Given the description of an element on the screen output the (x, y) to click on. 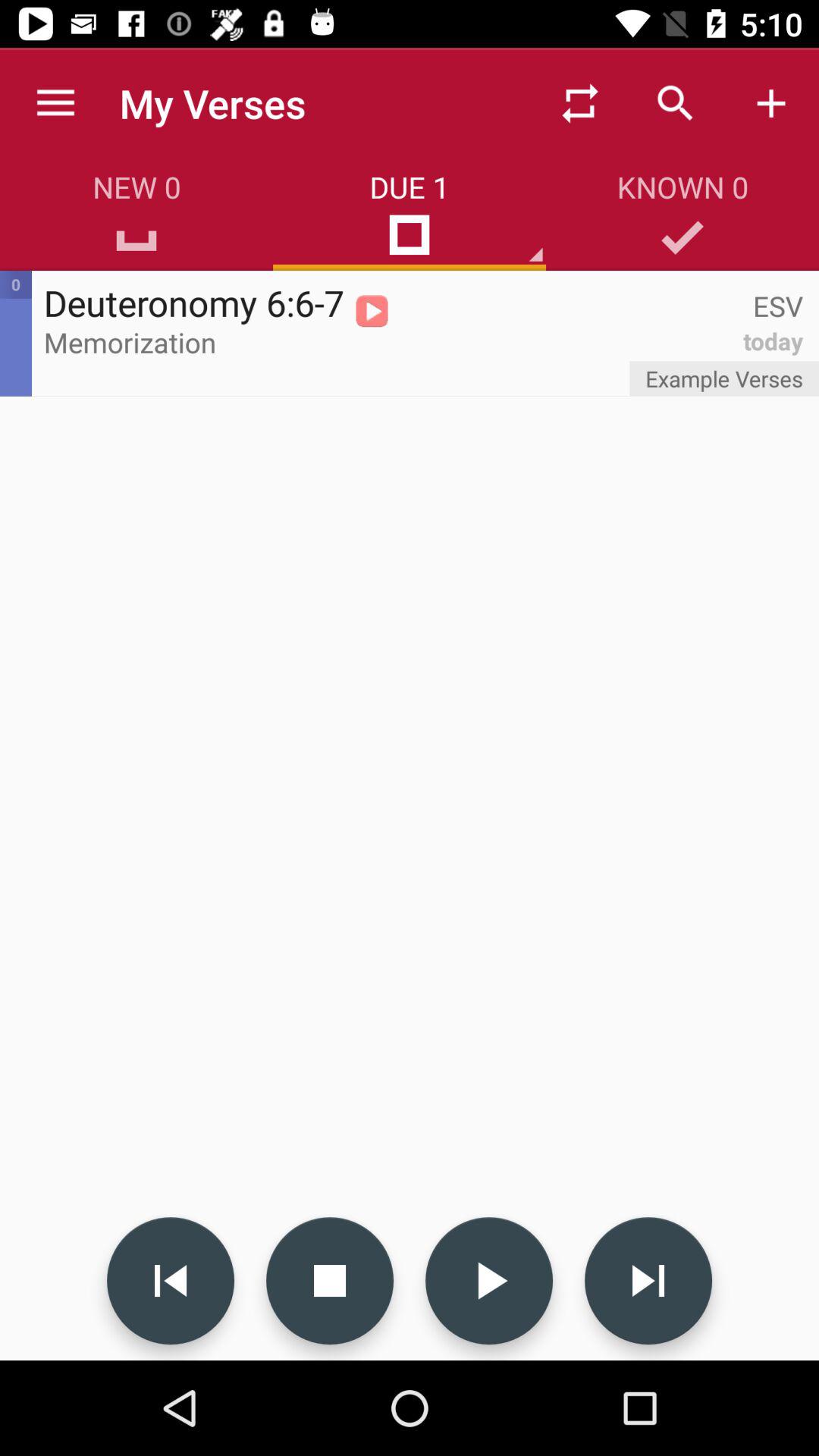
open item to the right of my verses icon (579, 103)
